Given the description of an element on the screen output the (x, y) to click on. 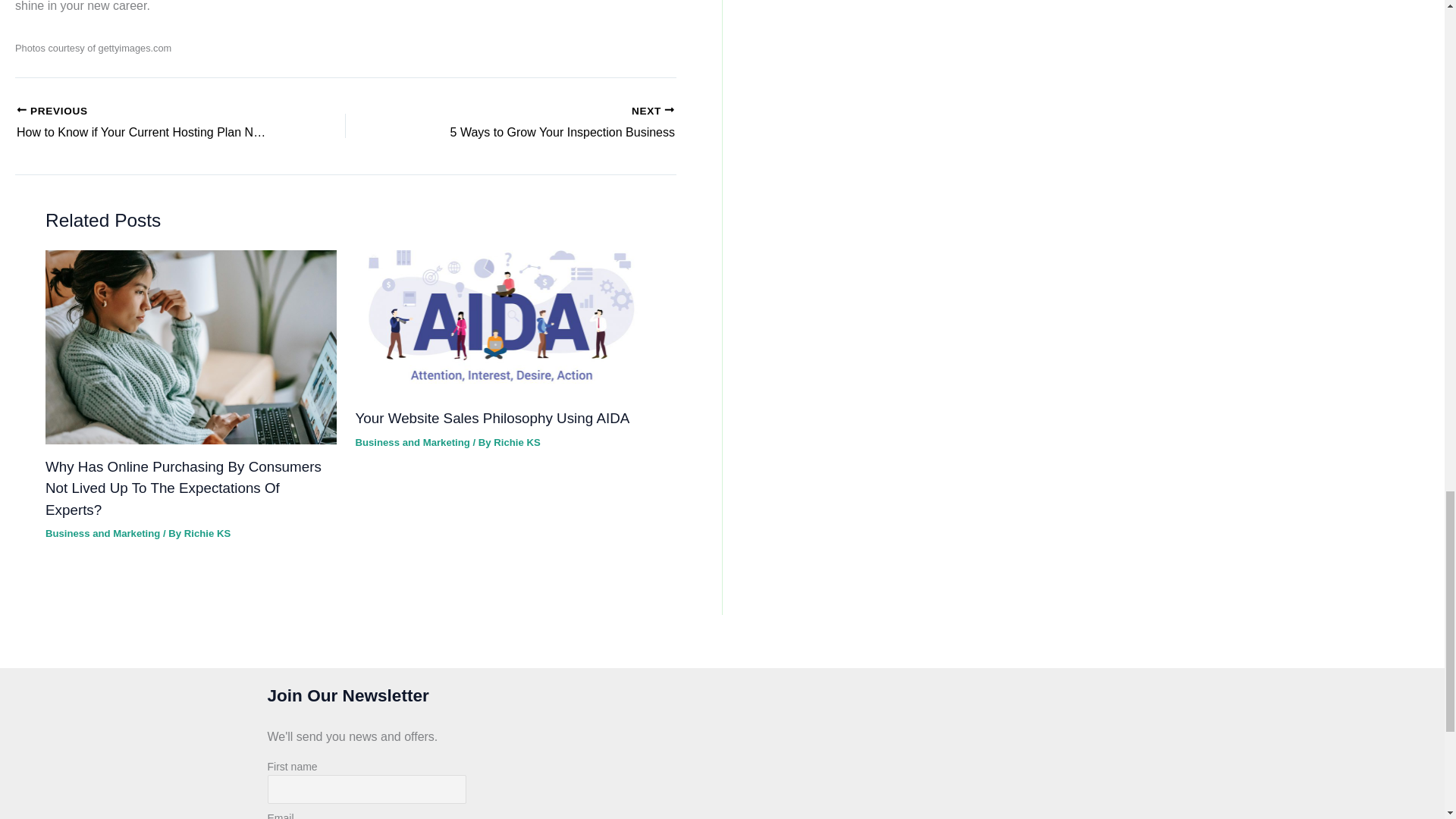
Business and Marketing (102, 532)
How to Know if Your Current Hosting Plan Needs Upgrading (148, 123)
5 Ways to Grow Your Inspection Business (542, 123)
View all posts by Richie KS (542, 123)
View all posts by Richie KS (516, 441)
